Given the description of an element on the screen output the (x, y) to click on. 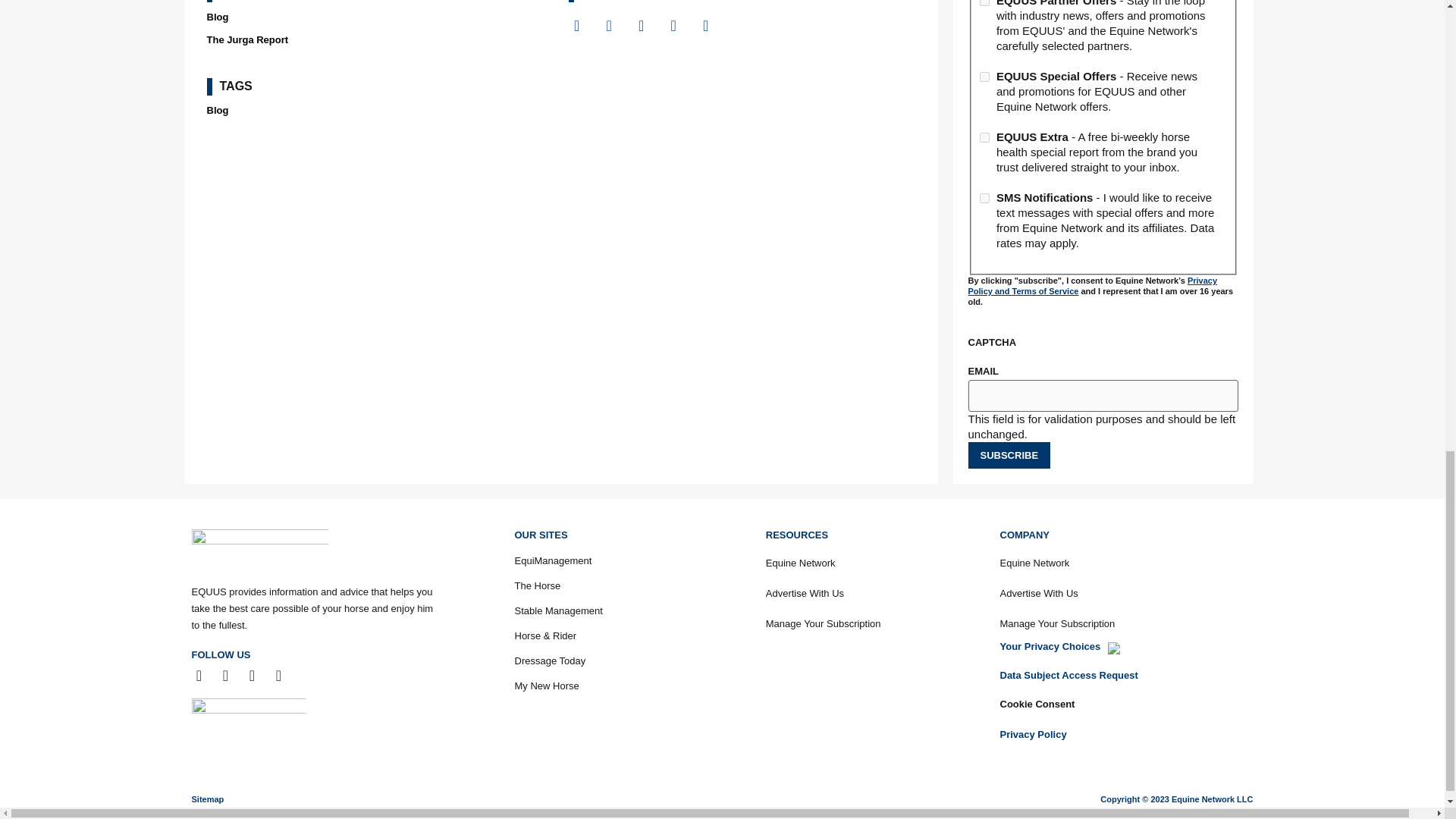
52f26a8f-e5be-4237-a9cb-227d8912a511 (984, 2)
SMS Notifications (984, 198)
0cd2e389-c43e-4146-b3bb-59ab437fd8f4 (984, 137)
591f5baa-e9c3-40bf-bf02-f5923680caa3 (984, 76)
Subscribe (1008, 455)
